Given the description of an element on the screen output the (x, y) to click on. 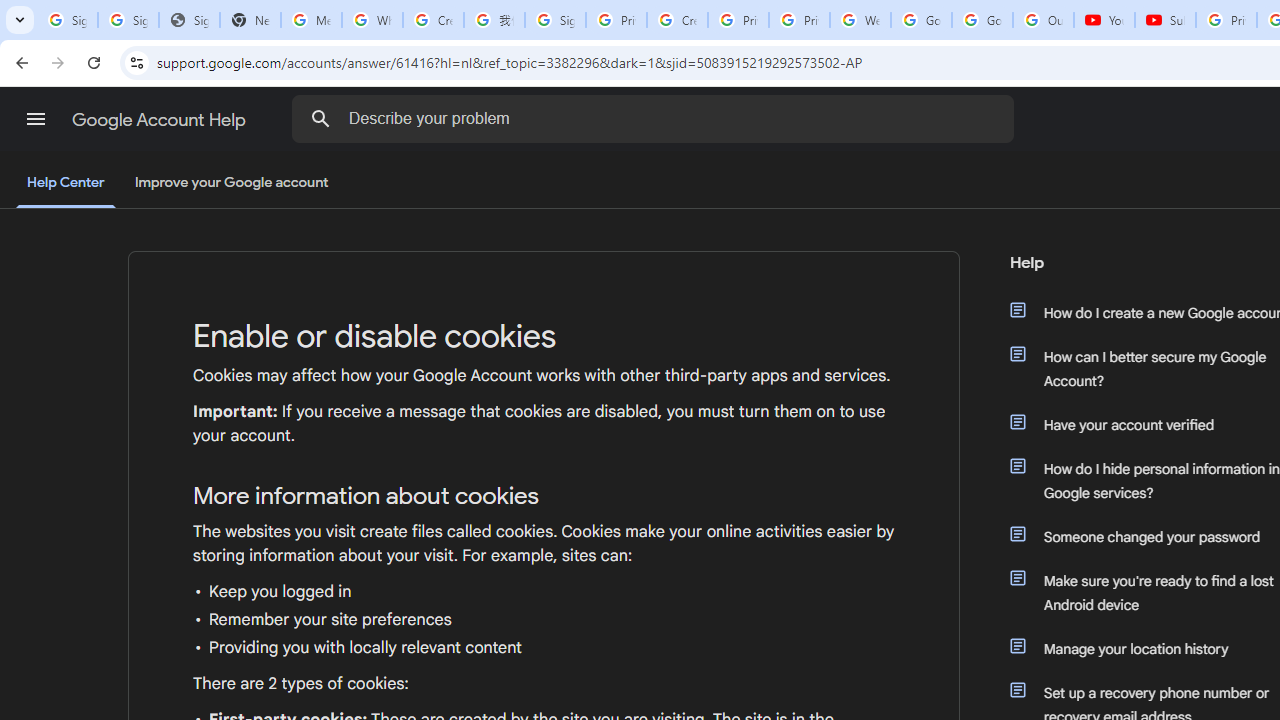
Improve your Google account (231, 183)
Who is my administrator? - Google Account Help (372, 20)
Describe your problem (655, 118)
Google Account Help (160, 119)
Sign in - Google Accounts (555, 20)
Create your Google Account (433, 20)
Main menu (35, 119)
